Given the description of an element on the screen output the (x, y) to click on. 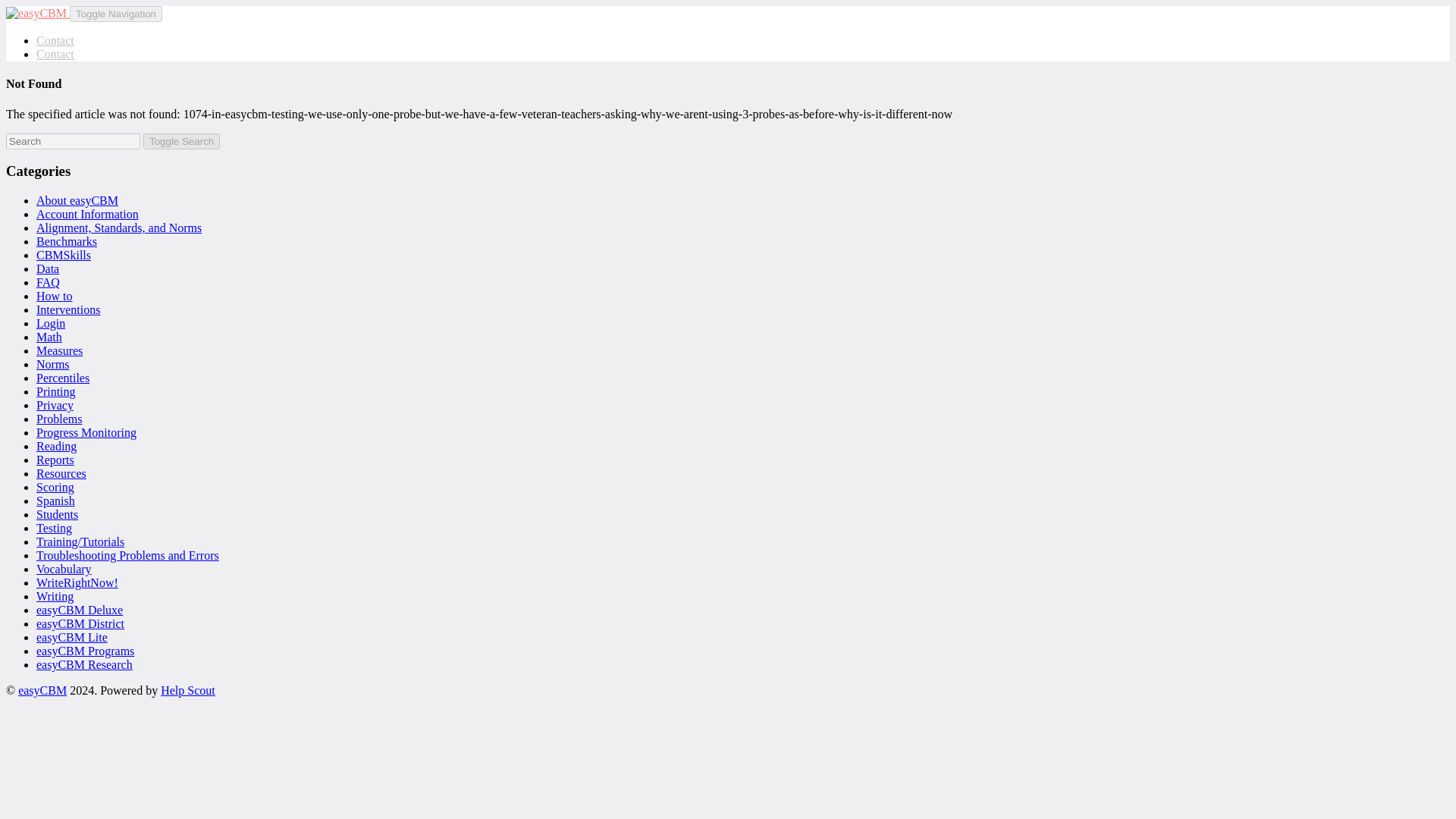
Troubleshooting Problems and Errors (127, 554)
search-query (72, 141)
Login (50, 323)
Data (47, 268)
Benchmarks (66, 241)
Privacy (55, 404)
About easyCBM (76, 200)
Vocabulary (63, 568)
Spanish (55, 500)
easyCBM Programs (84, 650)
CBMSkills (63, 254)
Resources (60, 472)
Account Information (87, 214)
Toggle Navigation (115, 13)
easyCBM Lite (71, 636)
